Given the description of an element on the screen output the (x, y) to click on. 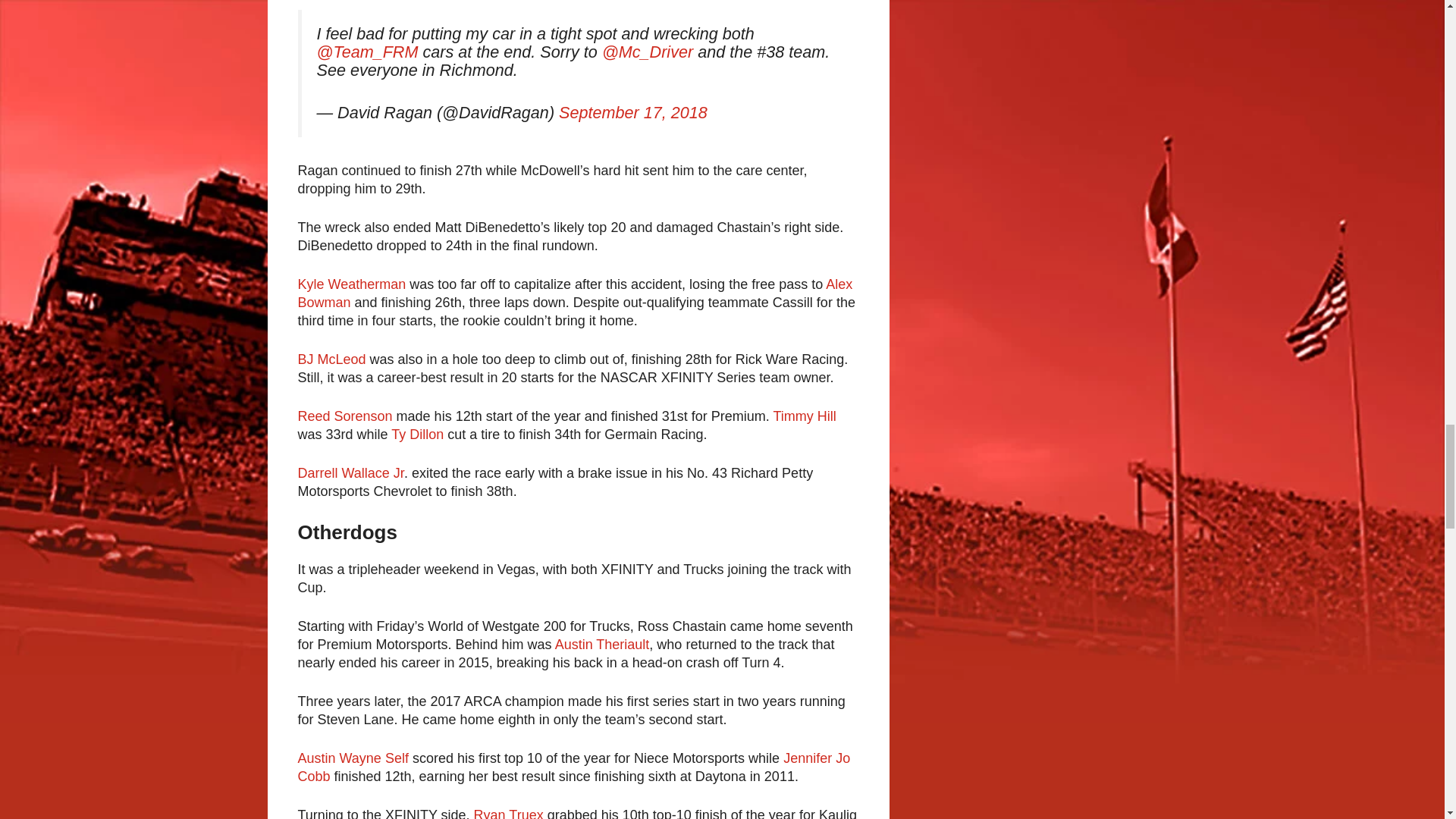
Kyle Weatherman (351, 283)
BJ McLeod (331, 359)
Alex Bowman (574, 293)
Timmy Hill (804, 416)
Reed Sorenson (344, 416)
September 17, 2018 (633, 112)
